Given the description of an element on the screen output the (x, y) to click on. 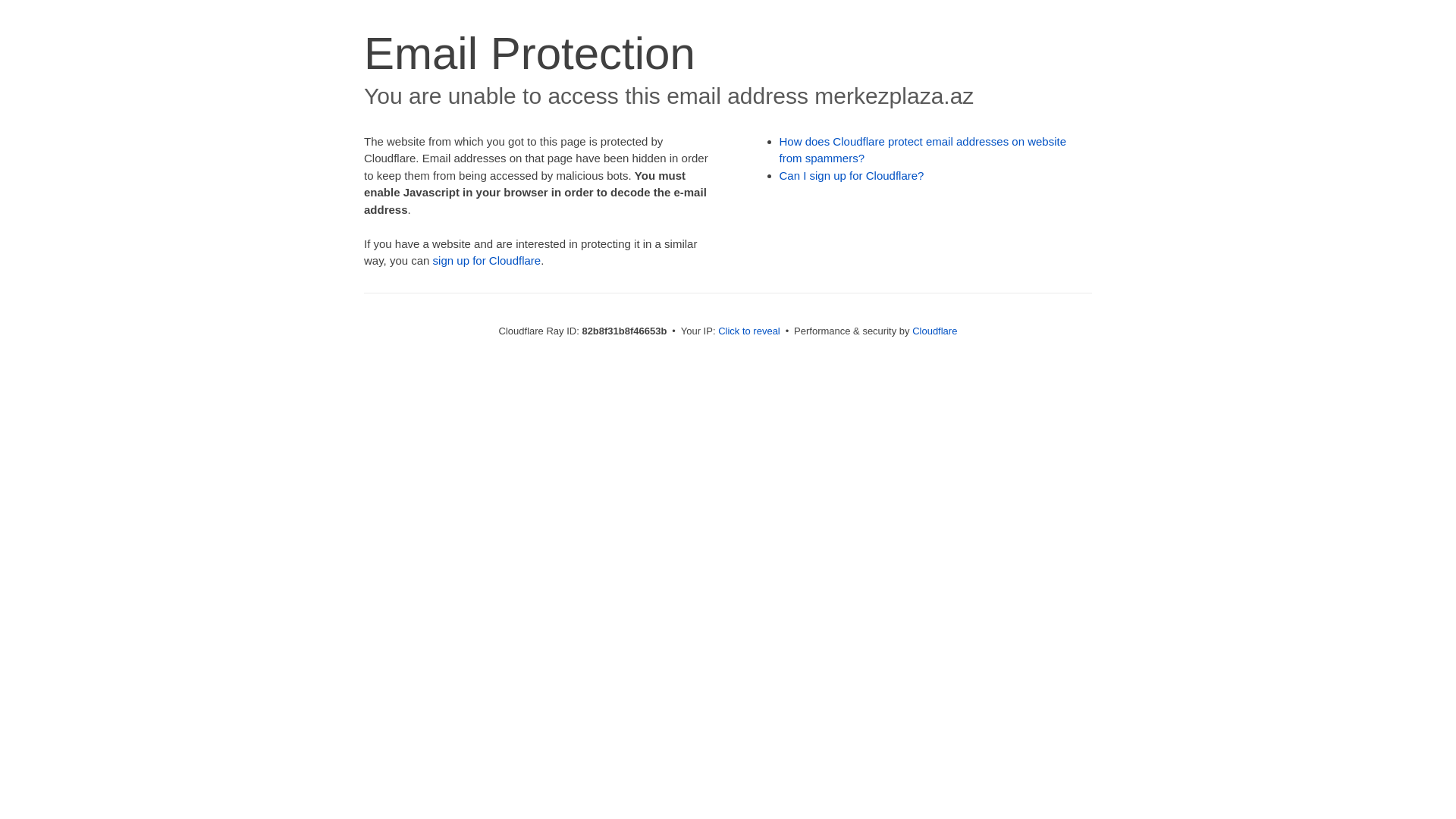
Can I sign up for Cloudflare? Element type: text (851, 175)
sign up for Cloudflare Element type: text (487, 260)
Cloudflare Element type: text (934, 330)
Click to reveal Element type: text (749, 330)
